Given the description of an element on the screen output the (x, y) to click on. 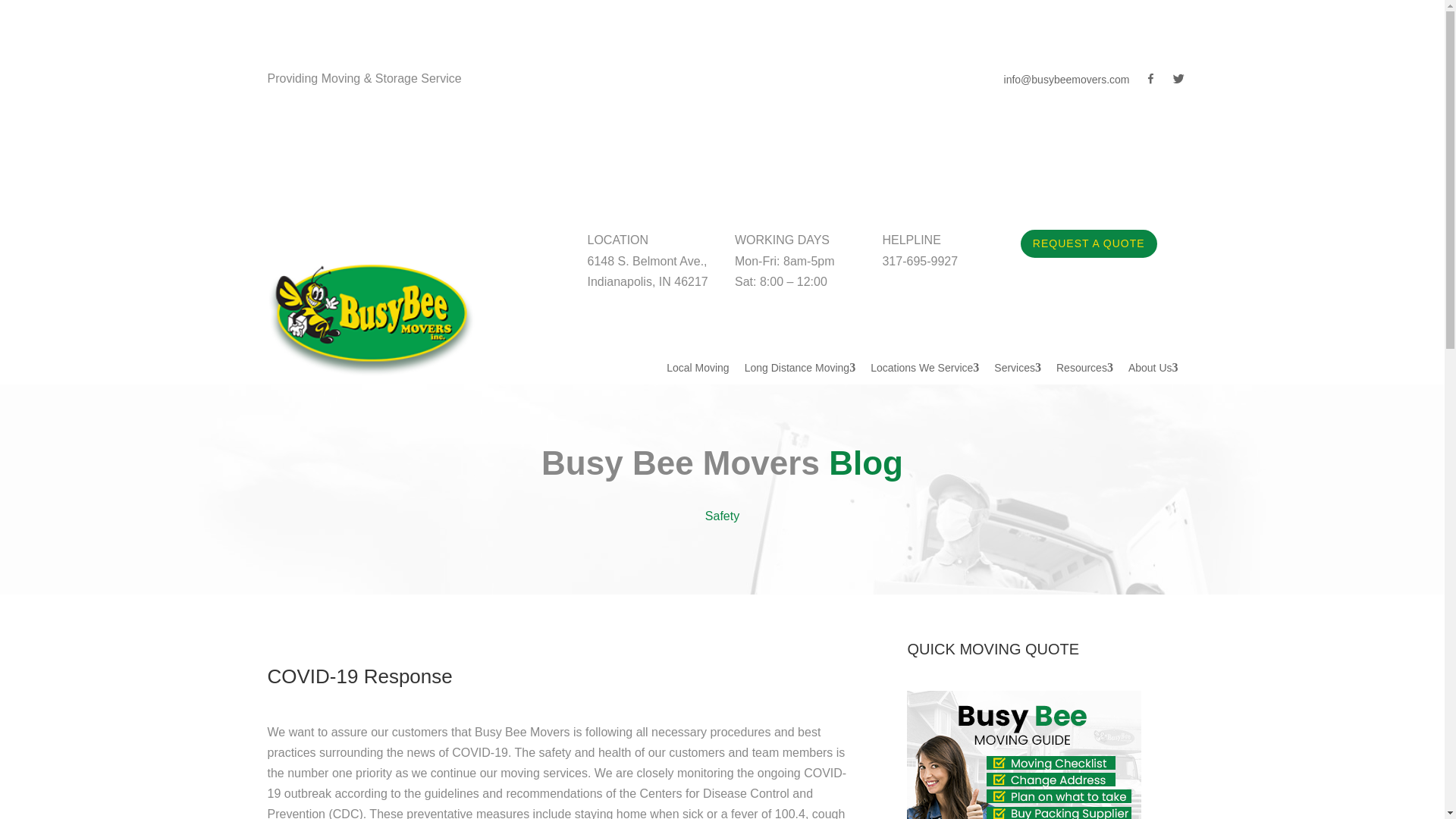
Twitter (1171, 82)
Resources (1084, 367)
Locations We Service (925, 367)
About Us (1153, 367)
checklist-banner (1024, 755)
Services (1017, 367)
REQUEST A QUOTE (1088, 243)
Long Distance Moving (799, 367)
Facebook (1143, 82)
Local Moving (697, 367)
